Given the description of an element on the screen output the (x, y) to click on. 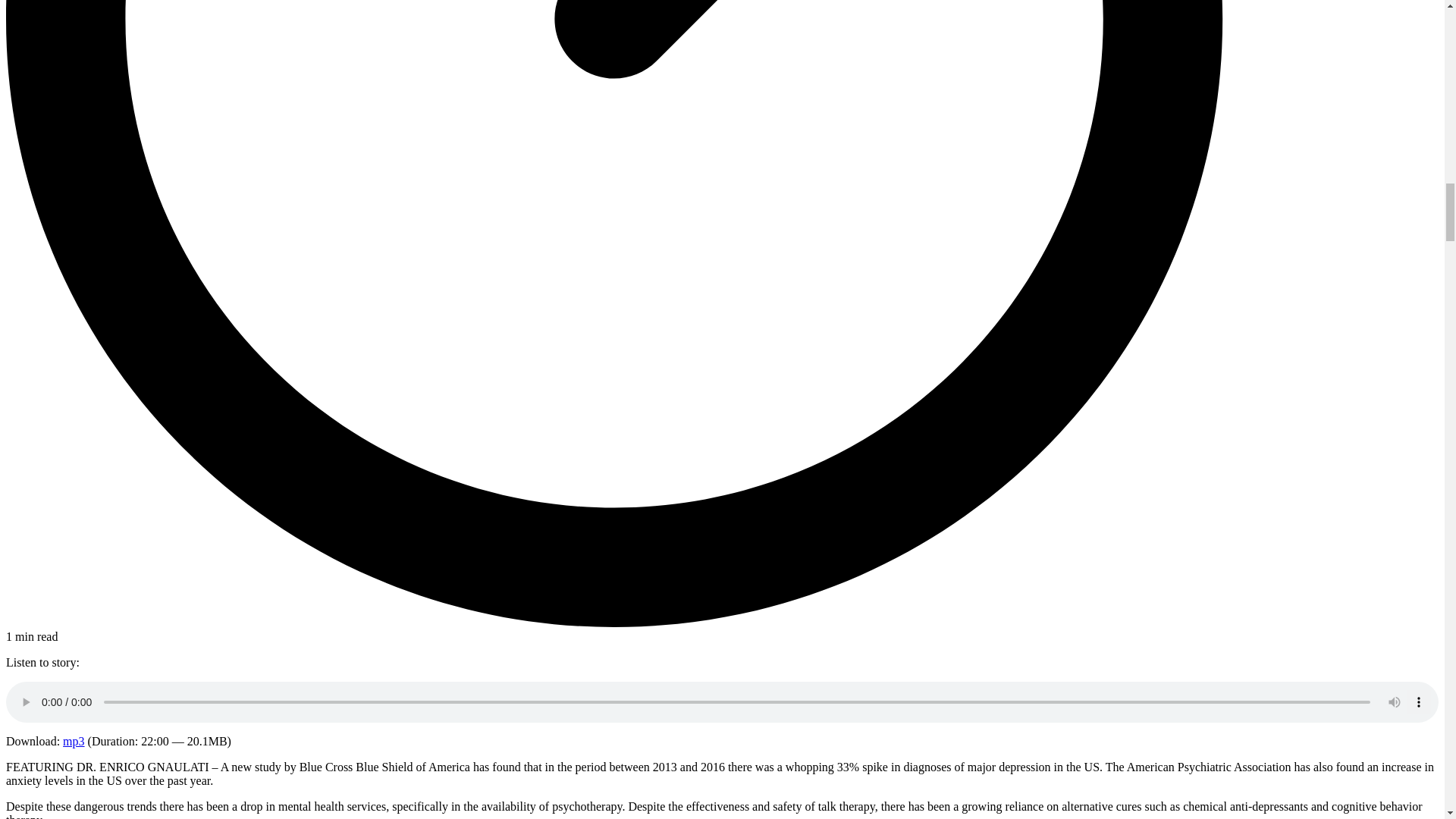
mp3 (73, 740)
mp3 (73, 740)
